Given the description of an element on the screen output the (x, y) to click on. 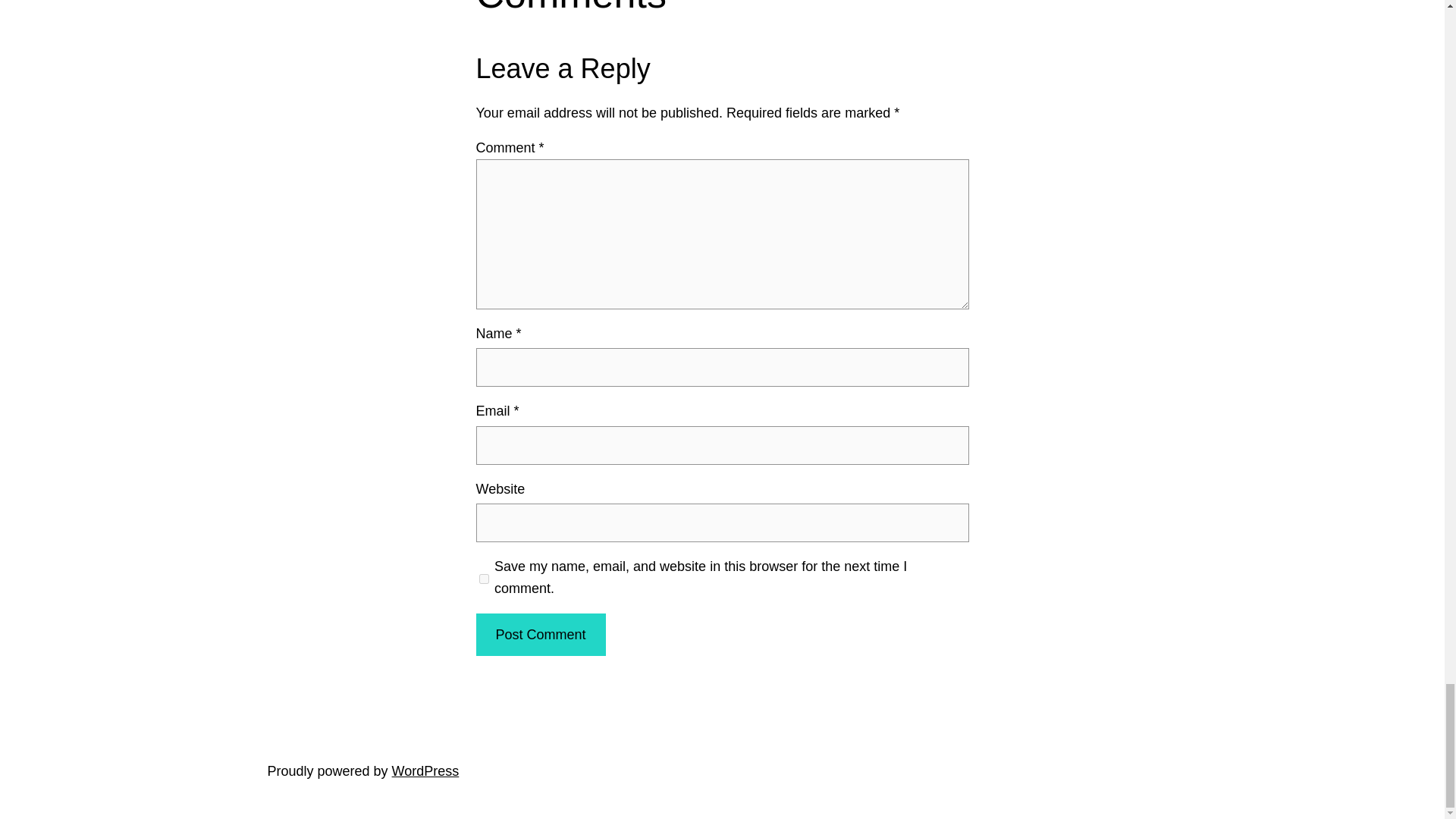
WordPress (425, 770)
Post Comment (540, 634)
Post Comment (540, 634)
